Given the description of an element on the screen output the (x, y) to click on. 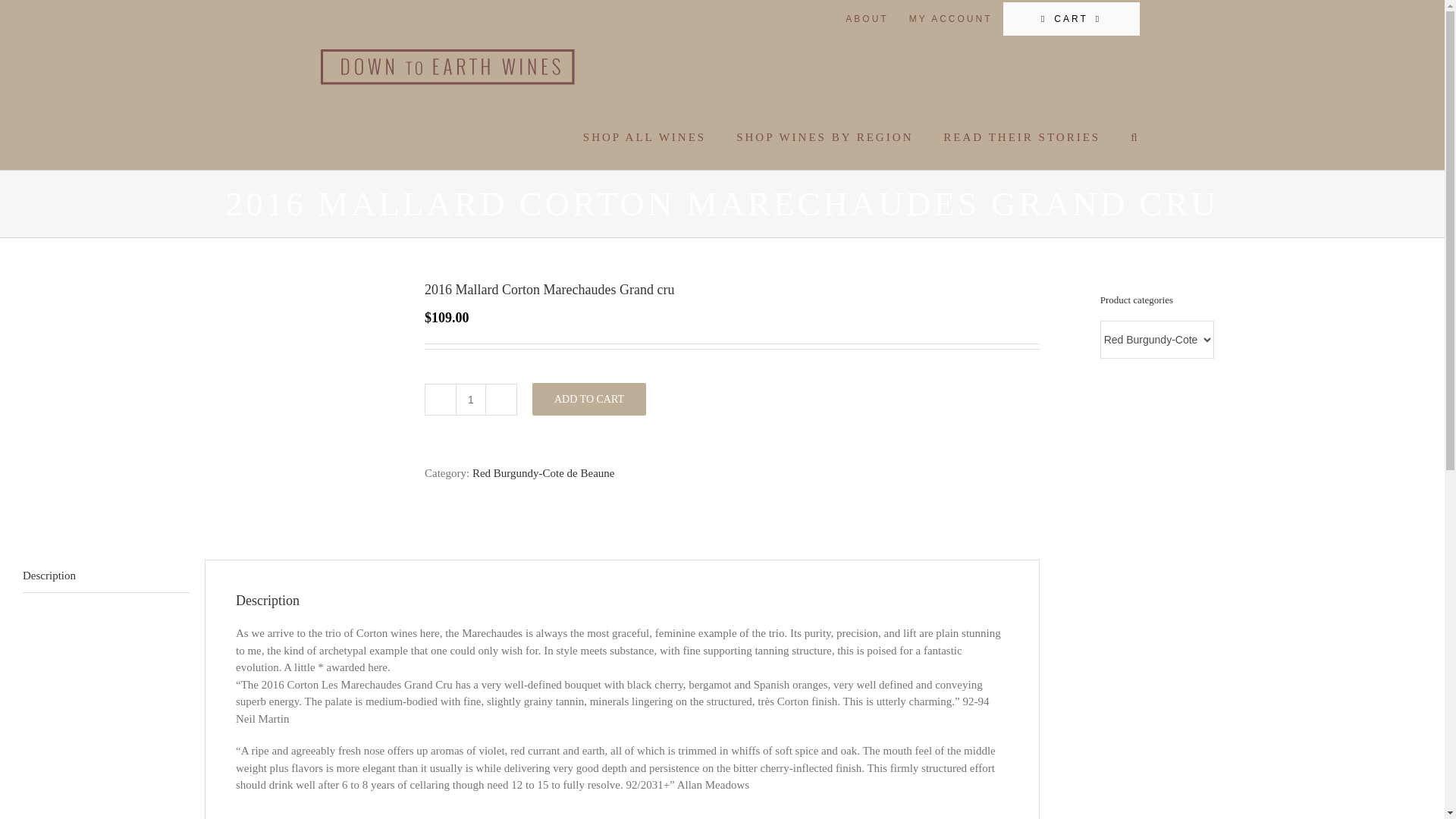
MY ACCOUNT (951, 19)
ADD TO CART (589, 399)
READ THEIR STORIES (1021, 136)
Description (106, 575)
SHOP ALL WINES (644, 136)
SHOP WINES BY REGION (824, 136)
1 (470, 399)
ABOUT (866, 19)
CART (1070, 19)
Log In (1015, 178)
